Given the description of an element on the screen output the (x, y) to click on. 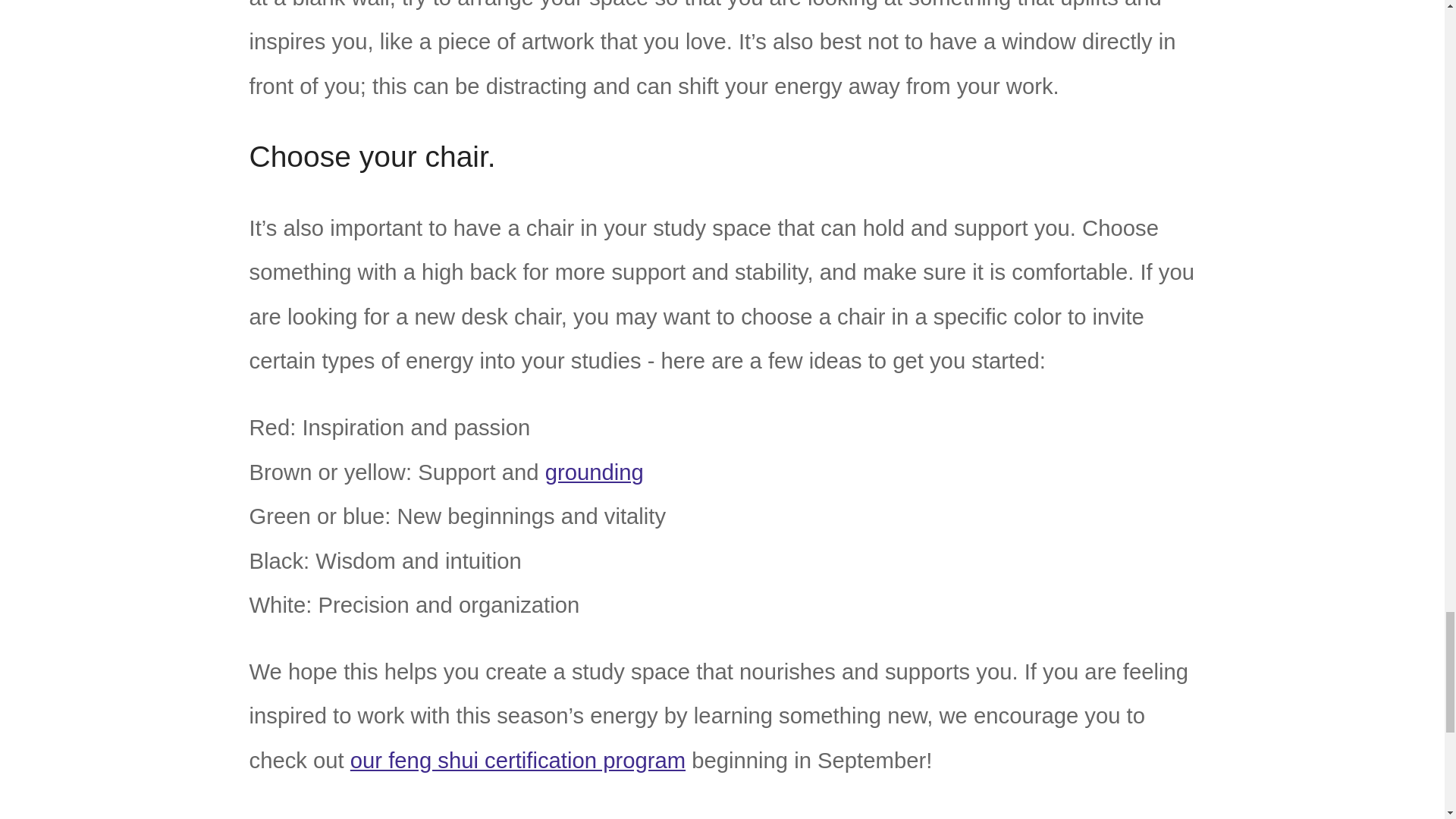
grounding (593, 472)
our feng shui certification program (517, 760)
